Given the description of an element on the screen output the (x, y) to click on. 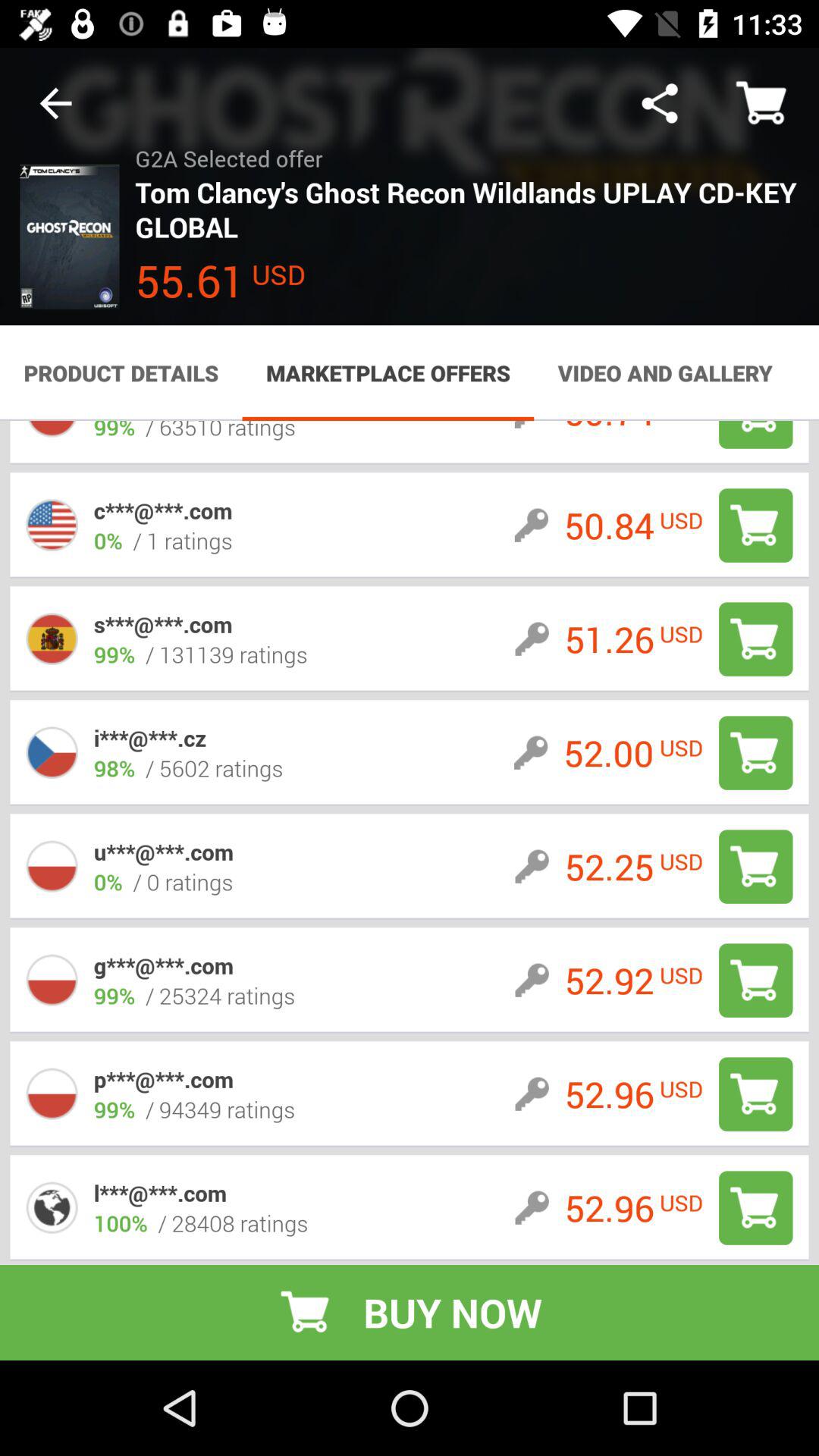
go do bachres (755, 980)
